Given the description of an element on the screen output the (x, y) to click on. 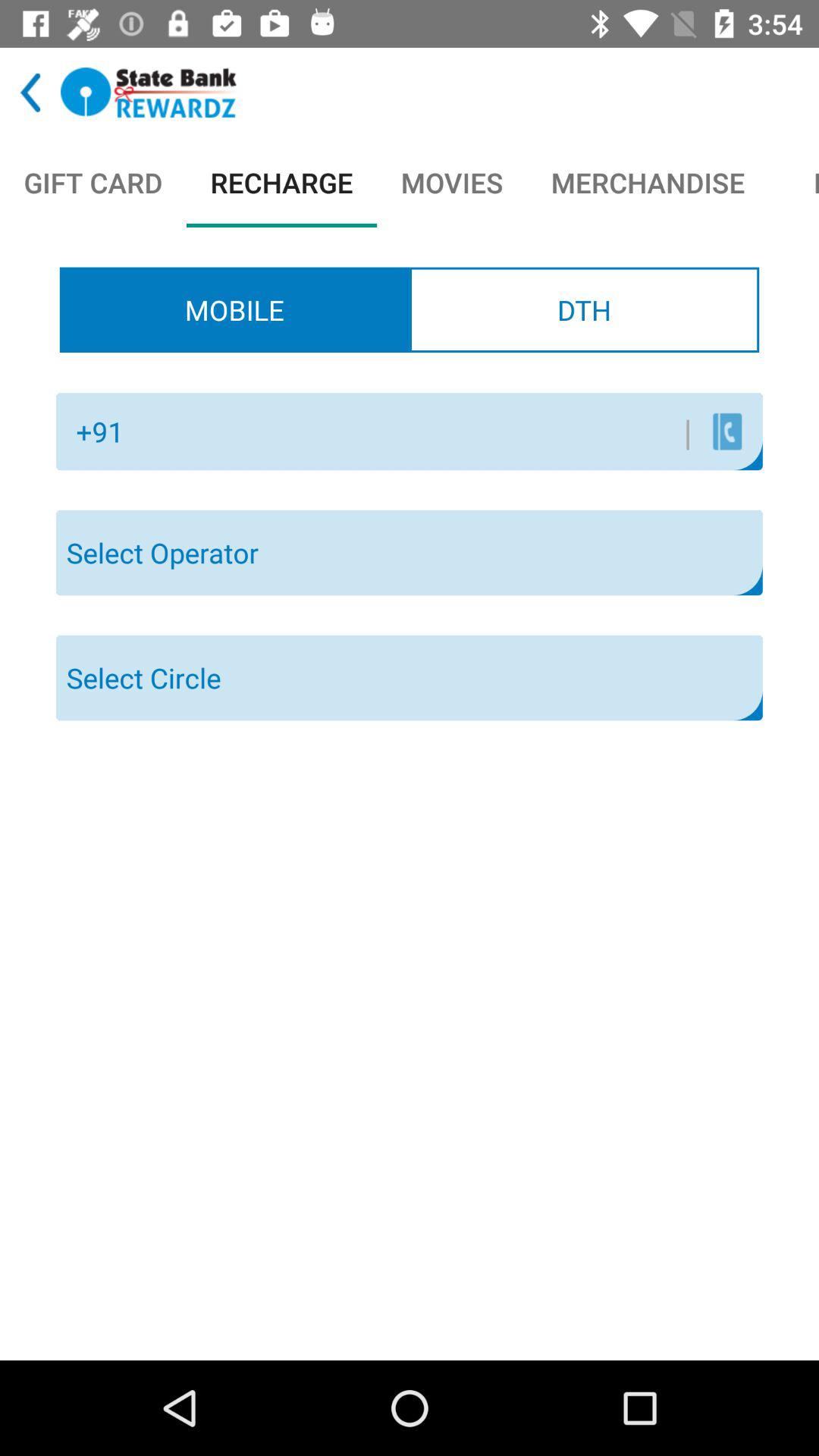
type phone number (413, 431)
